Given the description of an element on the screen output the (x, y) to click on. 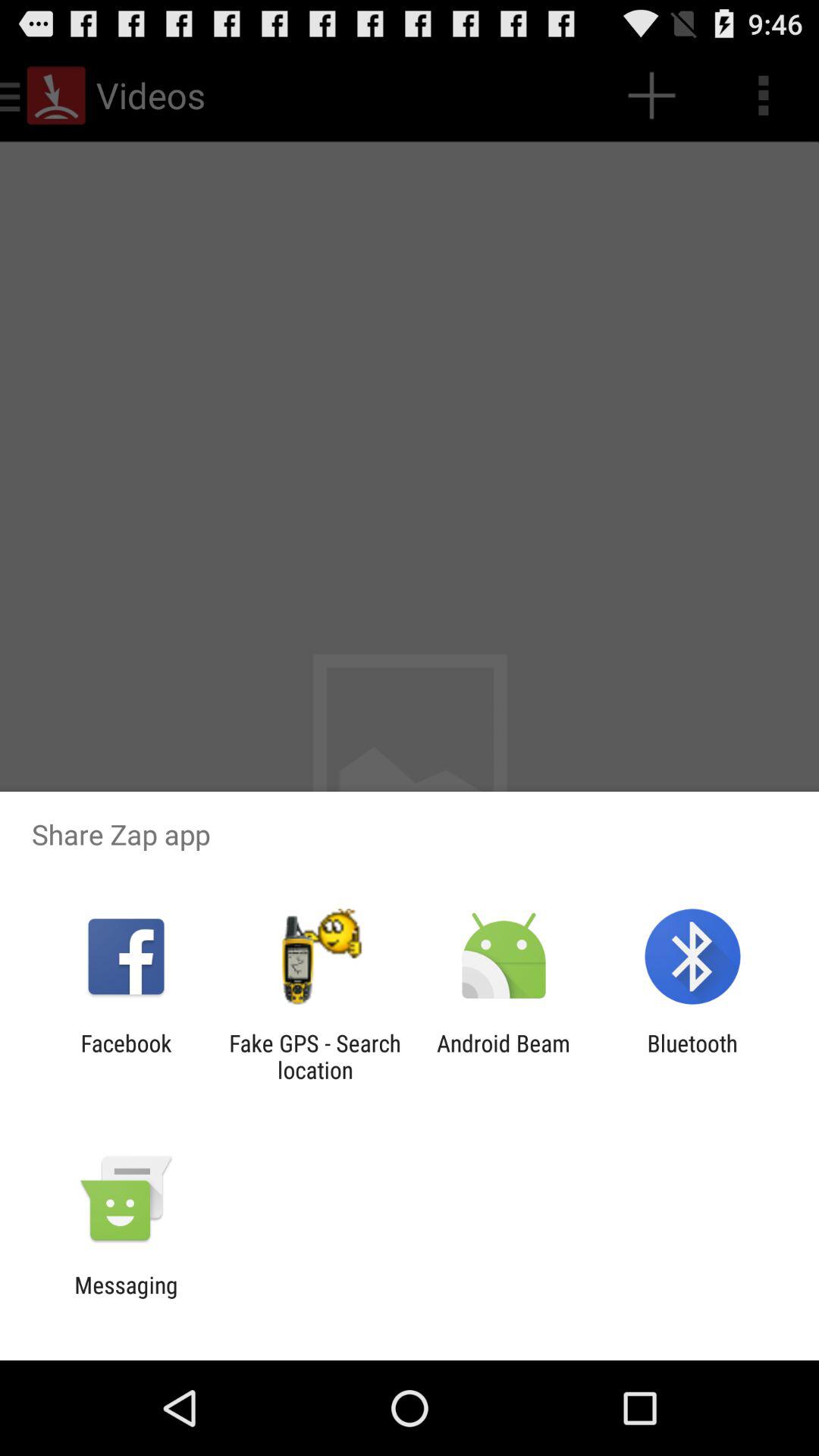
choose the icon next to the fake gps search icon (503, 1056)
